Given the description of an element on the screen output the (x, y) to click on. 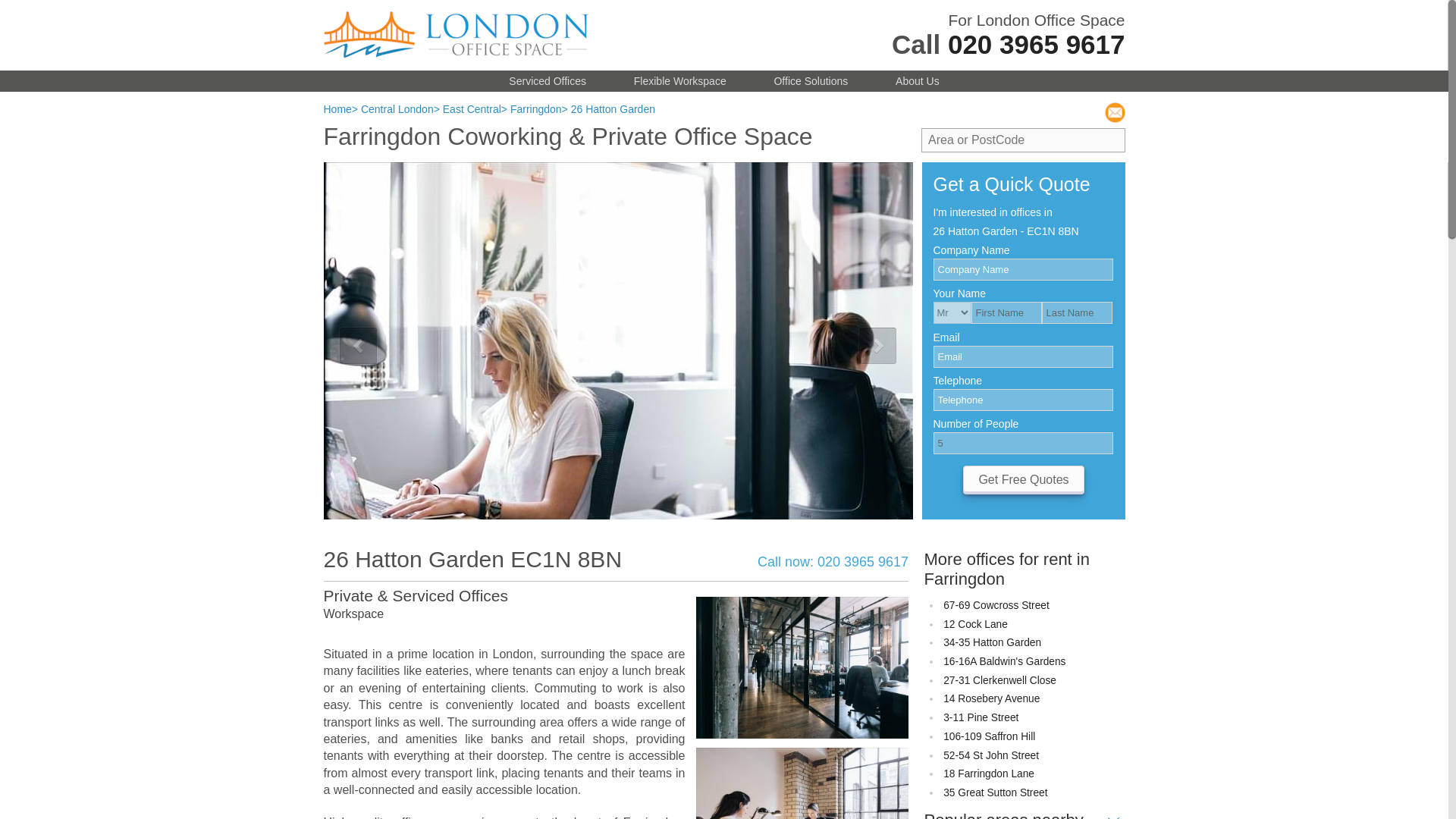
Get Free Quotes (1023, 480)
Get Free Quotes (1023, 480)
East Central (471, 109)
34-35 Hatton Garden (992, 642)
12 Cock Lane (975, 624)
020 3965 9617 (1036, 43)
52-54 St John Street (991, 754)
Flexible Workspace (679, 80)
14 Rosebery Avenue (991, 698)
Serviced Offices (547, 80)
106-109 Saffron Hill (989, 736)
16-16A Baldwin's Gardens (1004, 661)
Central London (397, 109)
Farringdon (536, 109)
35 Great Sutton Street (994, 792)
